Given the description of an element on the screen output the (x, y) to click on. 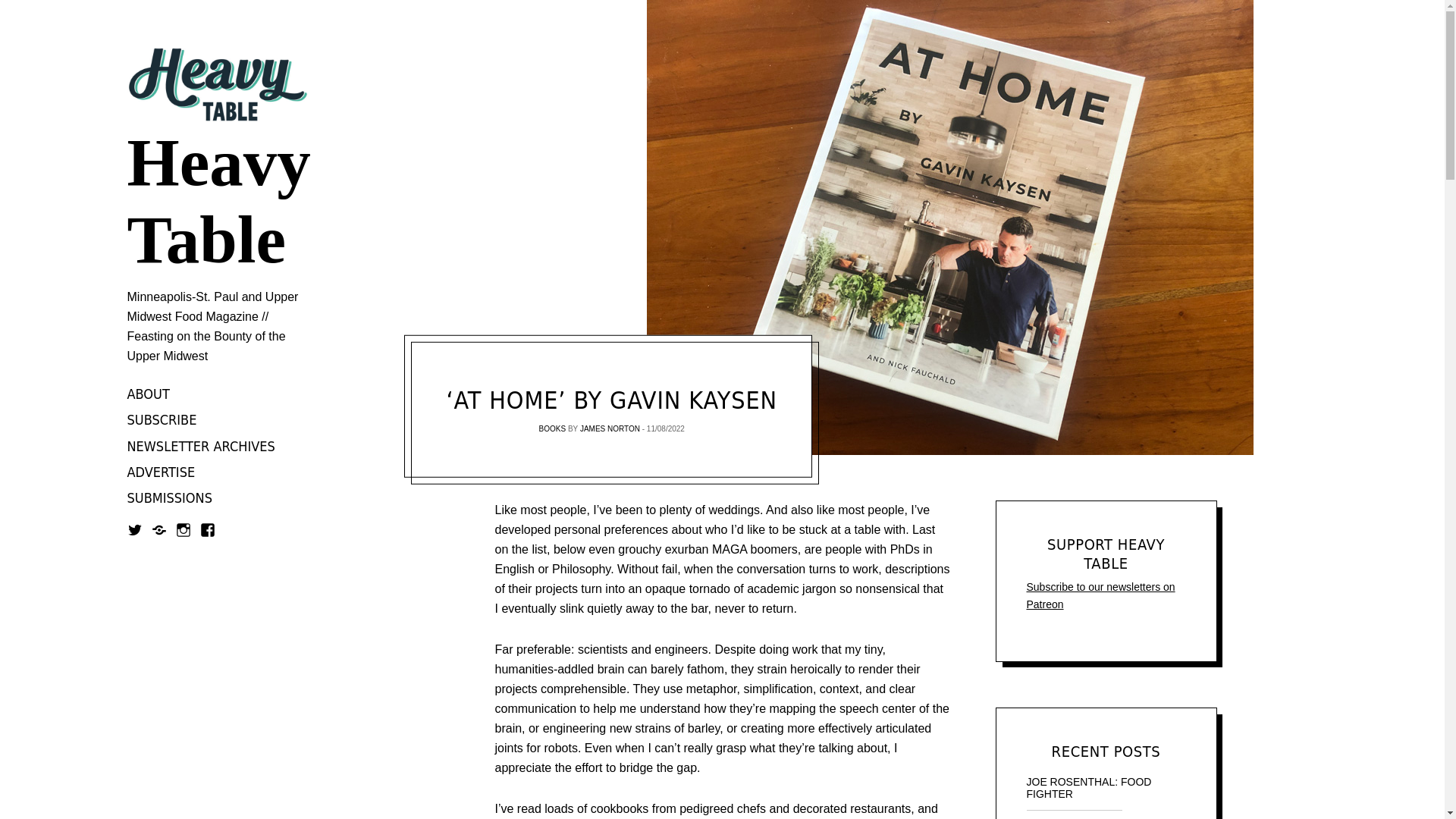
ADVERTISE (161, 472)
SUBMISSIONS (170, 498)
Subscribe to our newsletters on Patreon (1100, 595)
BOOKS (552, 429)
Heavy Table (218, 201)
NEWSLETTER ARCHIVES (201, 446)
ABOUT (149, 394)
JOE ROSENTHAL: FOOD FIGHTER (1106, 787)
SUBSCRIBE (162, 420)
JAMES NORTON (609, 429)
